Given the description of an element on the screen output the (x, y) to click on. 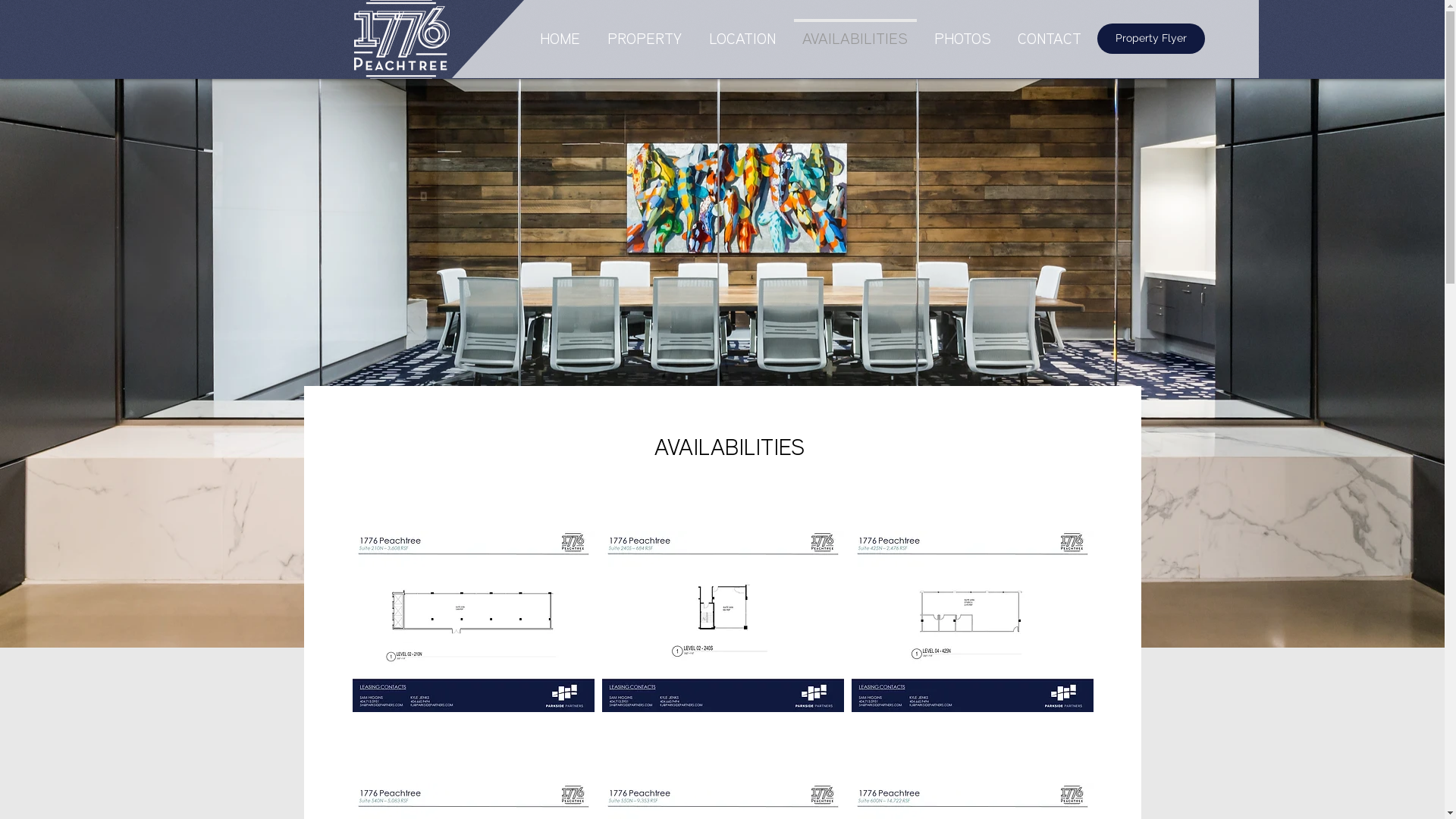
Property Flyer Element type: text (1150, 38)
HOME Element type: text (559, 33)
PHOTOS Element type: text (962, 33)
LOCATION Element type: text (741, 33)
CONTACT Element type: text (1049, 33)
PROPERTY Element type: text (643, 33)
AVAILABILITIES Element type: text (854, 33)
